Given the description of an element on the screen output the (x, y) to click on. 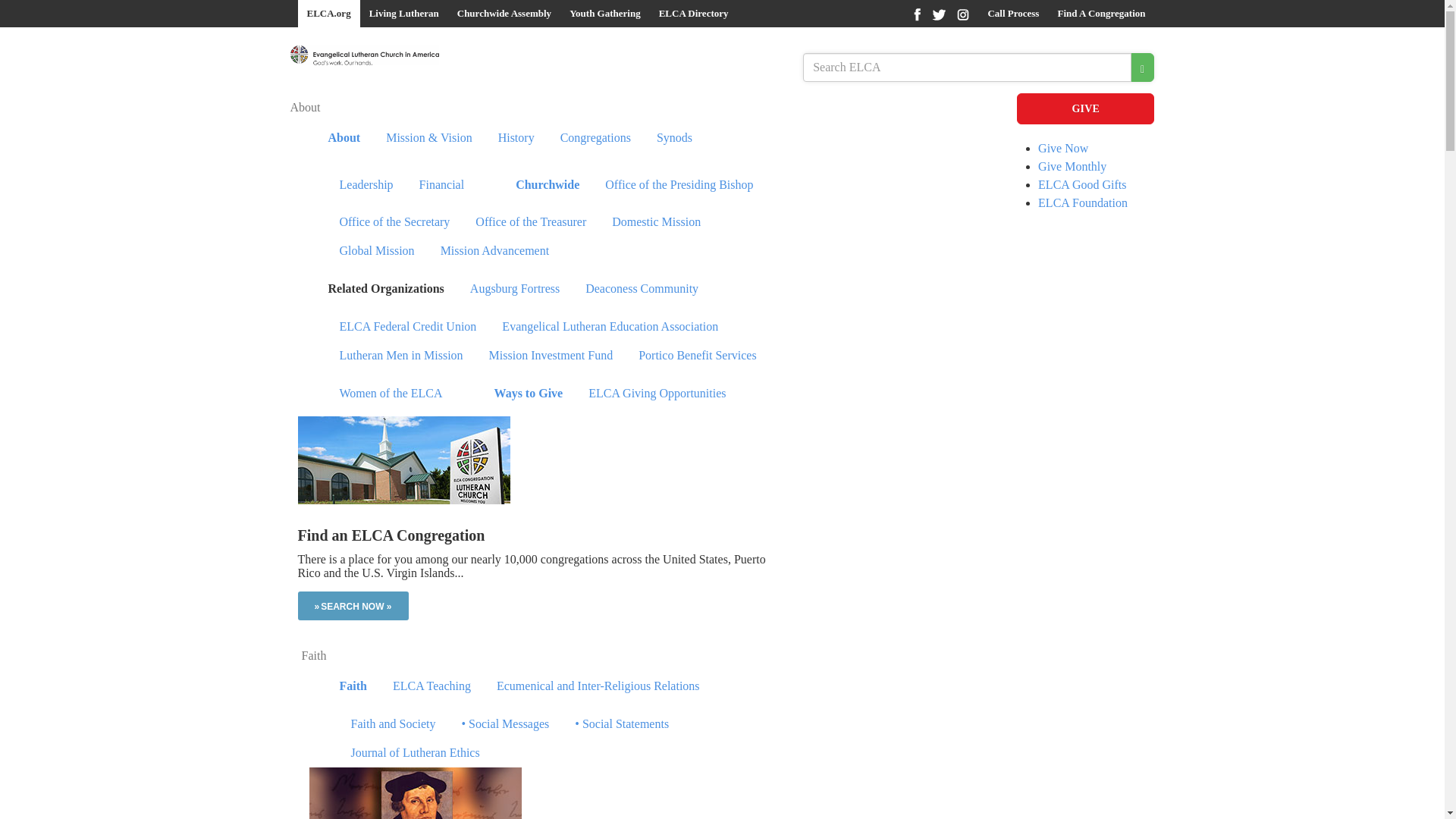
Synods (674, 137)
Give Monthly (1072, 165)
Give Now (1062, 147)
ELCA Good Gifts (1081, 184)
Leadership (366, 184)
Office of the Presiding Bishop (678, 184)
GIVE (1085, 108)
ELCA Directory (693, 13)
Churchwide Assembly (504, 13)
About (343, 137)
History (515, 137)
Office of the Treasurer (531, 221)
ELCA Foundation (1082, 202)
About (304, 106)
ELCA.org (328, 13)
